Given the description of an element on the screen output the (x, y) to click on. 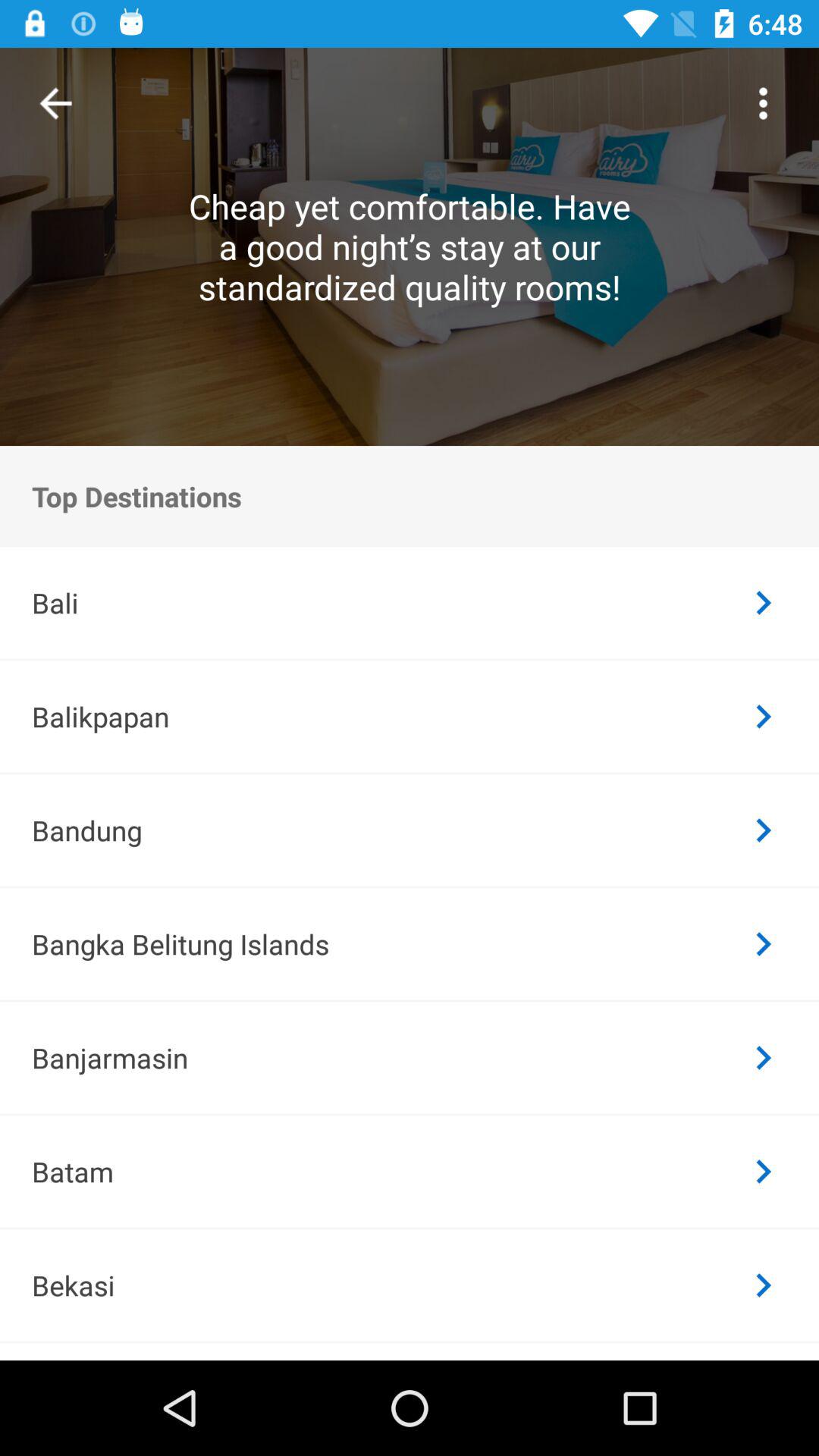
go back (55, 103)
